Given the description of an element on the screen output the (x, y) to click on. 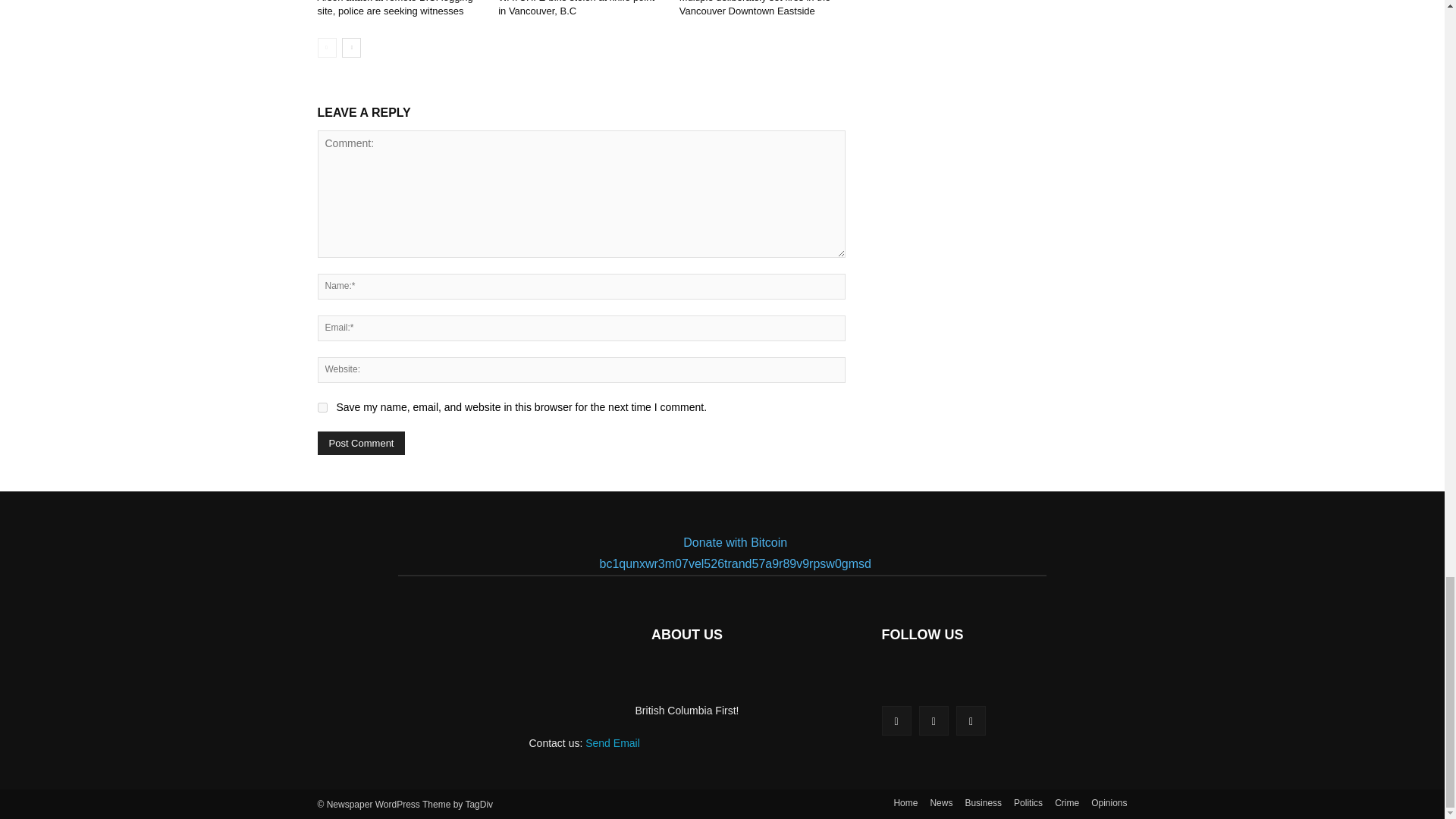
Post Comment (360, 443)
yes (321, 407)
